Given the description of an element on the screen output the (x, y) to click on. 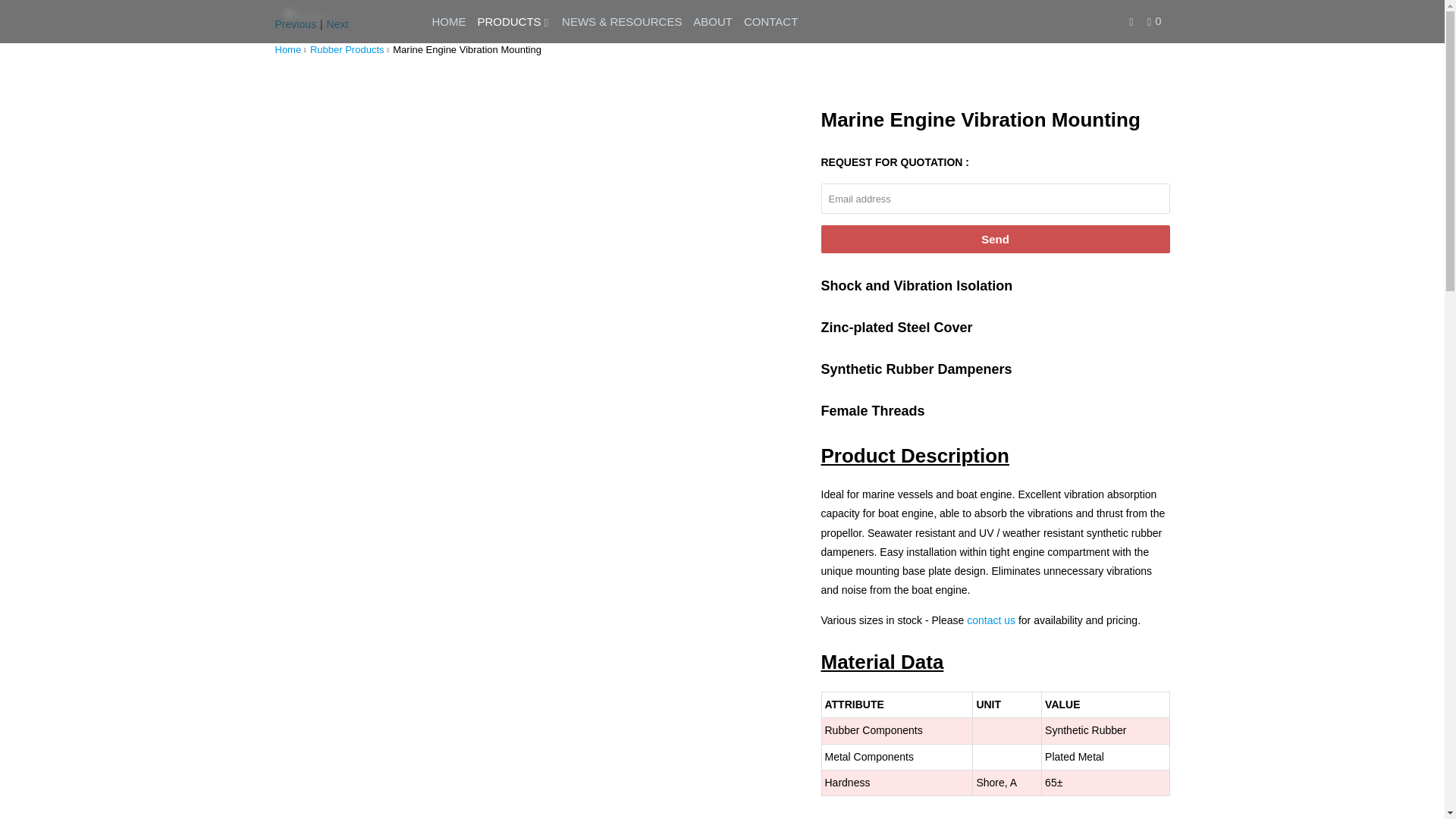
HOME (448, 21)
Send (995, 239)
Previous (295, 24)
PRODUCTS (513, 22)
Next (337, 24)
buy marine boat engine vibration mounting (990, 620)
Rubber Products (347, 49)
